Given the description of an element on the screen output the (x, y) to click on. 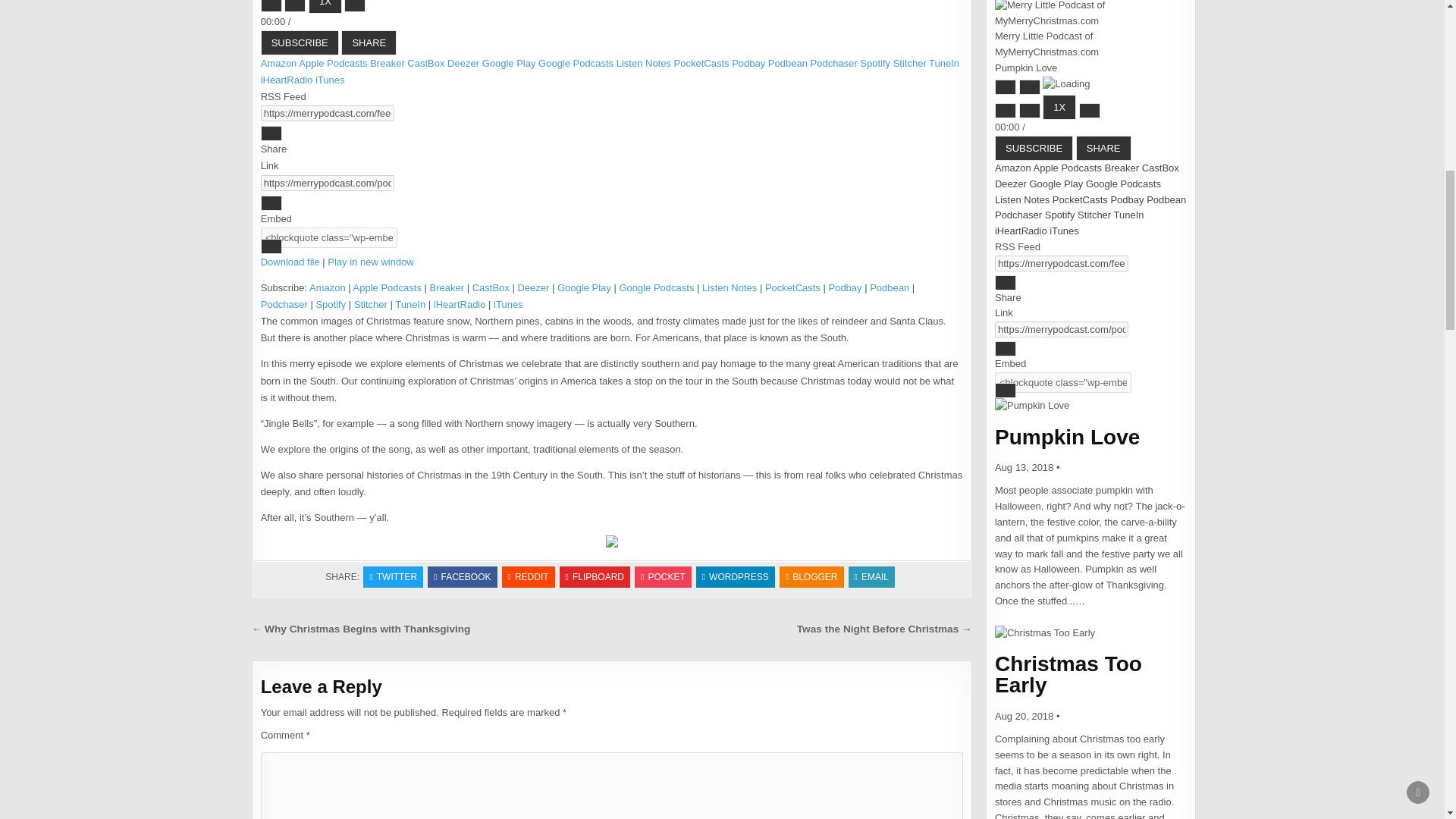
Podbay (750, 62)
Listen Notes (644, 62)
Breaker (388, 62)
FAST FORWARD 30 SECONDS (354, 5)
REWIND 10 SECONDS (294, 5)
Deezer (463, 62)
Apple Podcasts (333, 62)
Podchaser (835, 62)
PocketCasts (703, 62)
SHARE (368, 42)
